Given the description of an element on the screen output the (x, y) to click on. 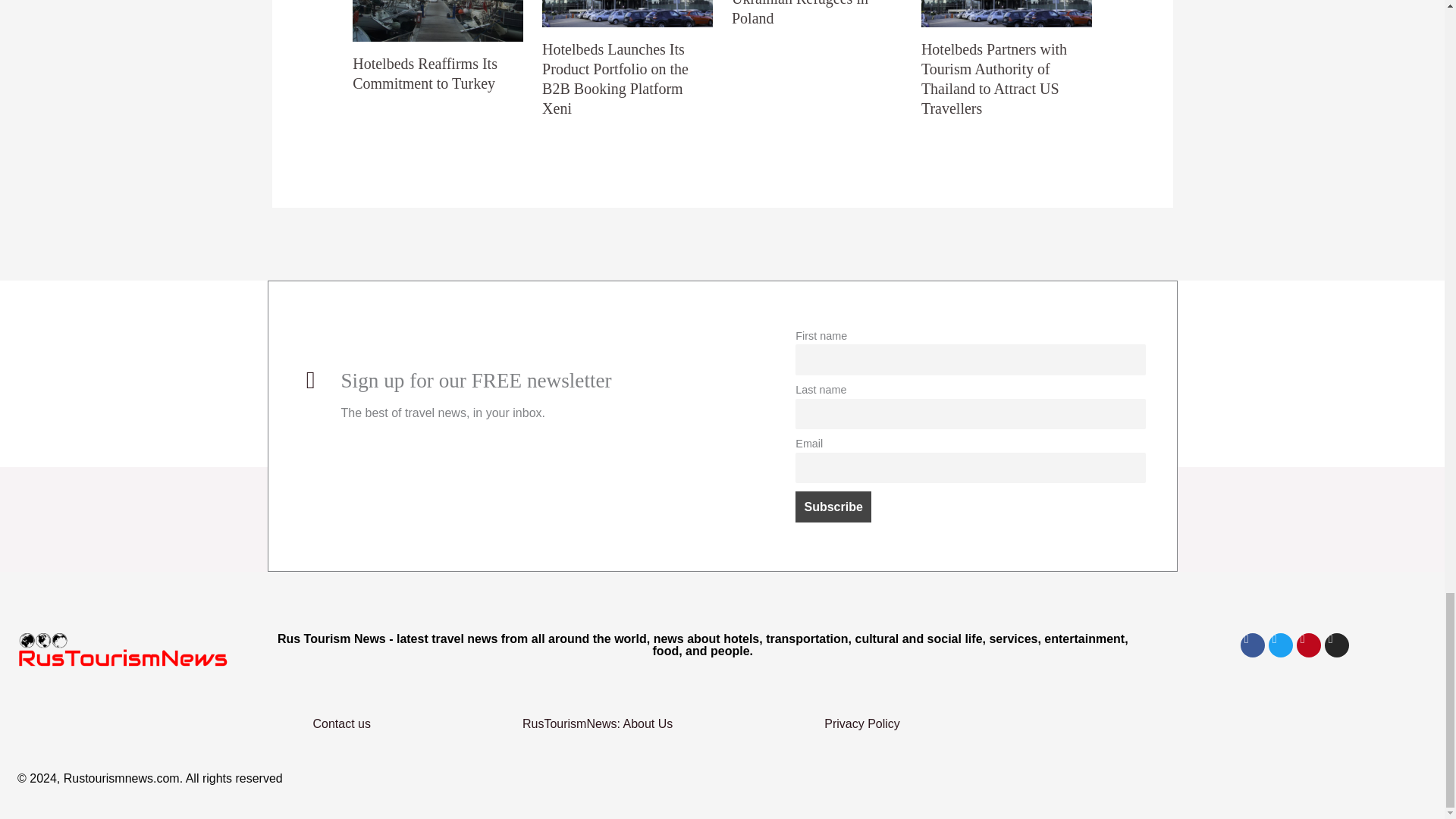
Subscribe (832, 506)
Hotelbeds Reaffirms Its Commitment to Turkey 6 (437, 21)
